Given the description of an element on the screen output the (x, y) to click on. 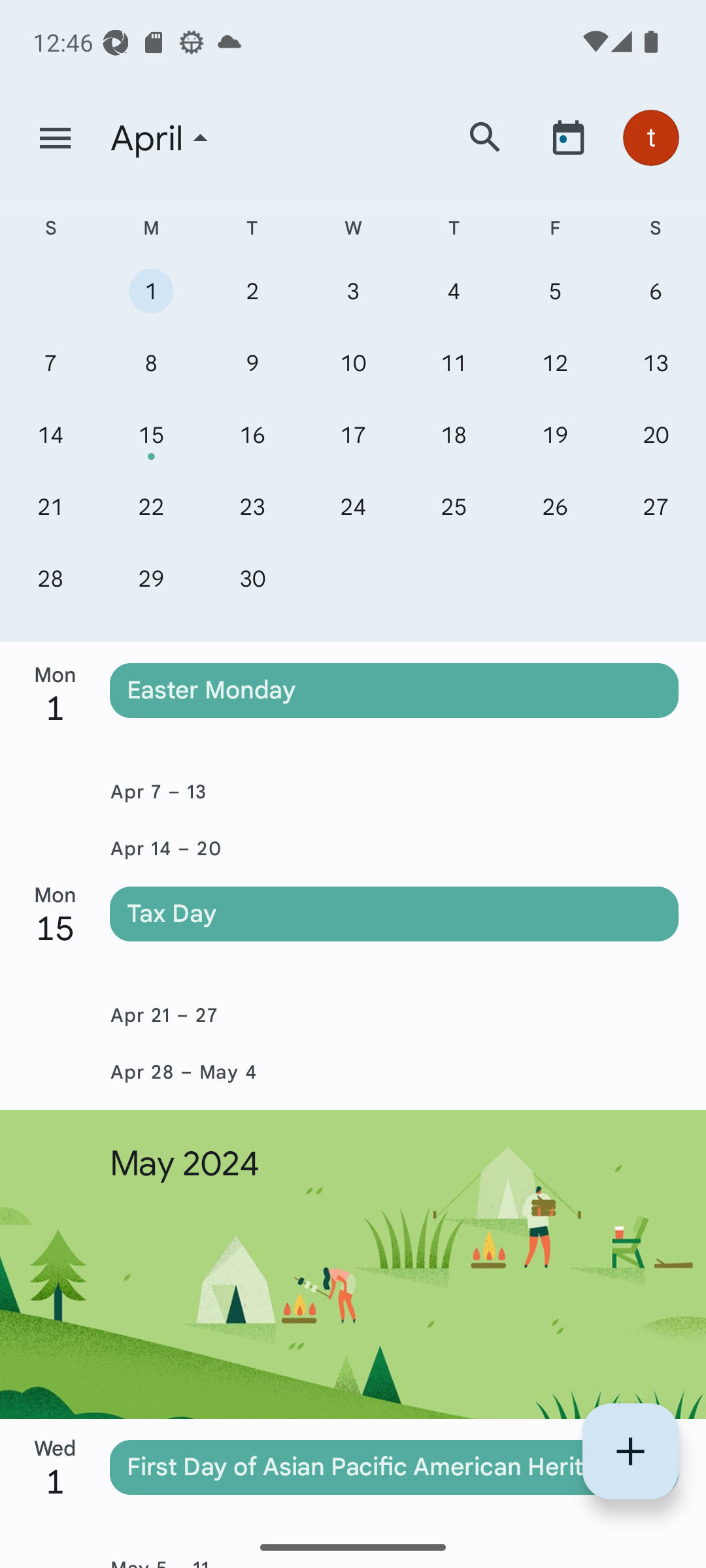
Show Calendar List and Settings drawer (55, 138)
April, Hide date picker April (270, 138)
Search (485, 137)
Jump to Today (567, 137)
Create new event and more (630, 1451)
